Given the description of an element on the screen output the (x, y) to click on. 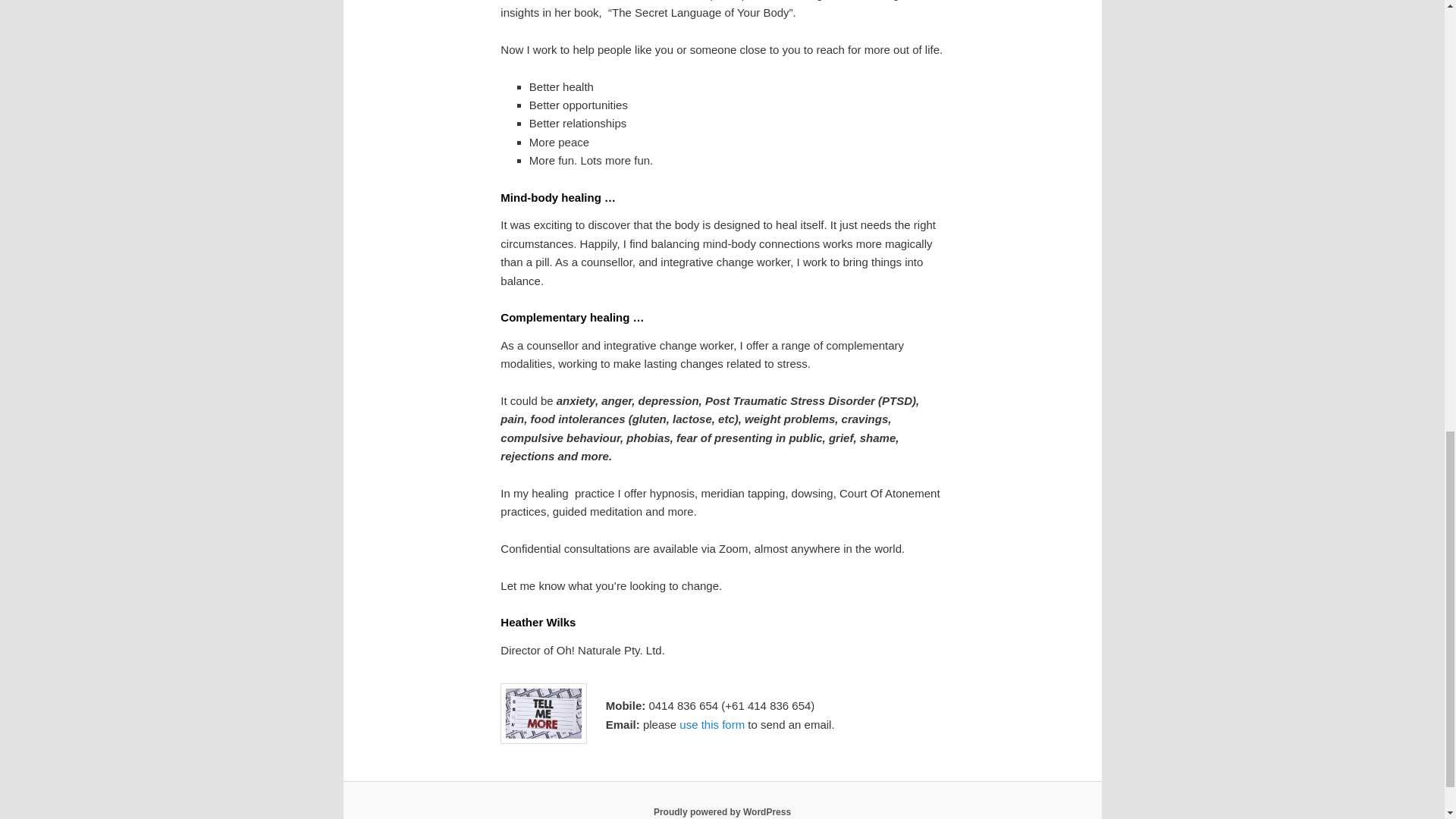
Proudly powered by WordPress (721, 811)
use this form (711, 724)
Semantic Personal Publishing Platform (721, 811)
